Given the description of an element on the screen output the (x, y) to click on. 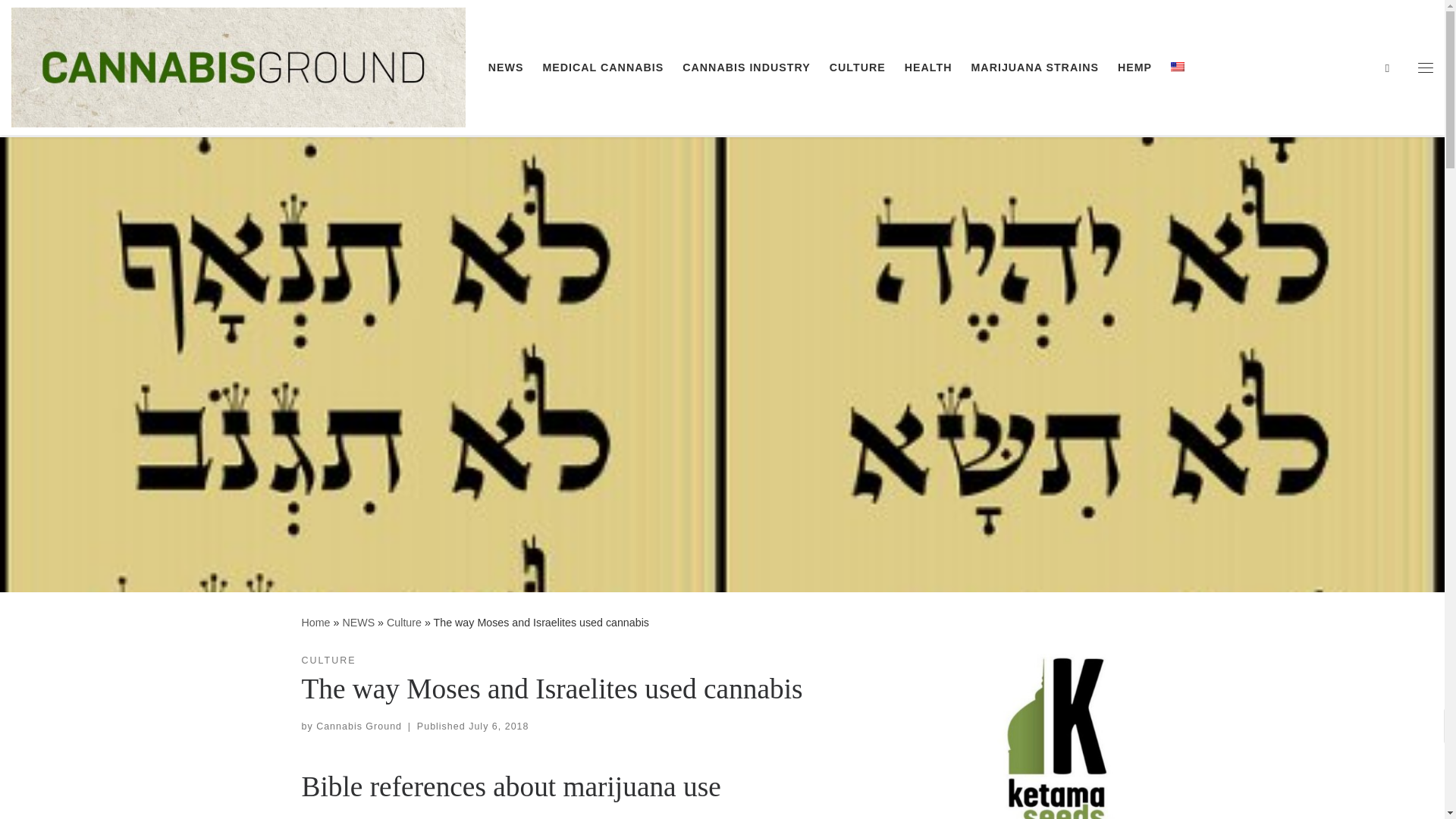
MEDICAL CANNABIS (602, 67)
NEWS (358, 622)
View all posts by Cannabis Ground (358, 726)
Culture (404, 622)
HEALTH (927, 67)
CULTURE (856, 67)
CULTURE (328, 660)
View all posts in Culture (328, 660)
MARIJUANA STRAINS (1034, 67)
NEWS (505, 67)
